Given the description of an element on the screen output the (x, y) to click on. 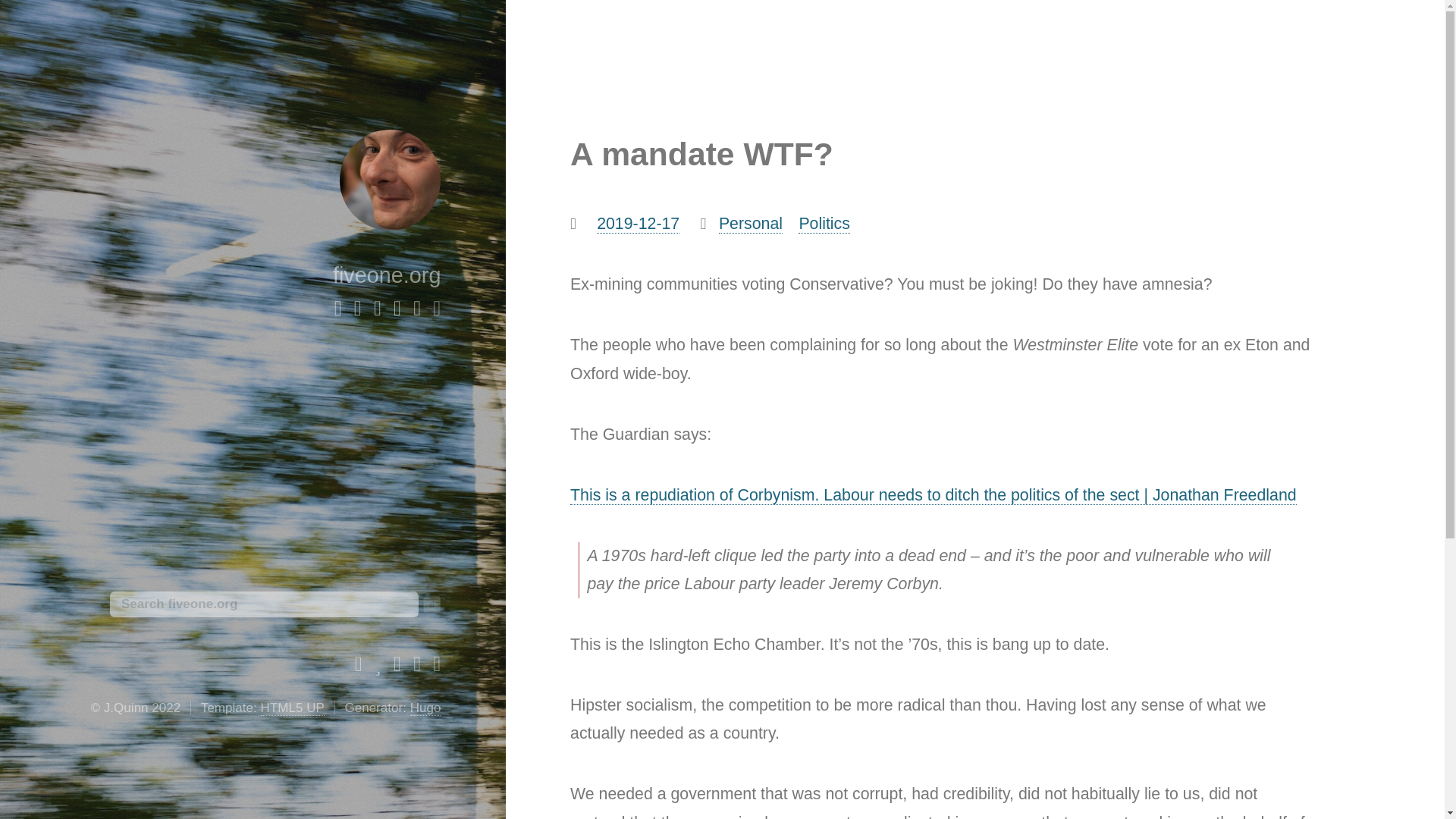
My Blog (436, 310)
Hugo (425, 708)
Furniture Design (397, 310)
2019-12-17 (637, 223)
How to contact me (377, 310)
My Photography on Flickr (397, 665)
My Utterances (377, 665)
Politics (823, 223)
My Work (416, 310)
Home Page (338, 310)
My personal Apps (436, 665)
Personal (751, 223)
My LinkedIn Profile (416, 665)
HTML5 UP (292, 708)
About Me (357, 310)
